Given the description of an element on the screen output the (x, y) to click on. 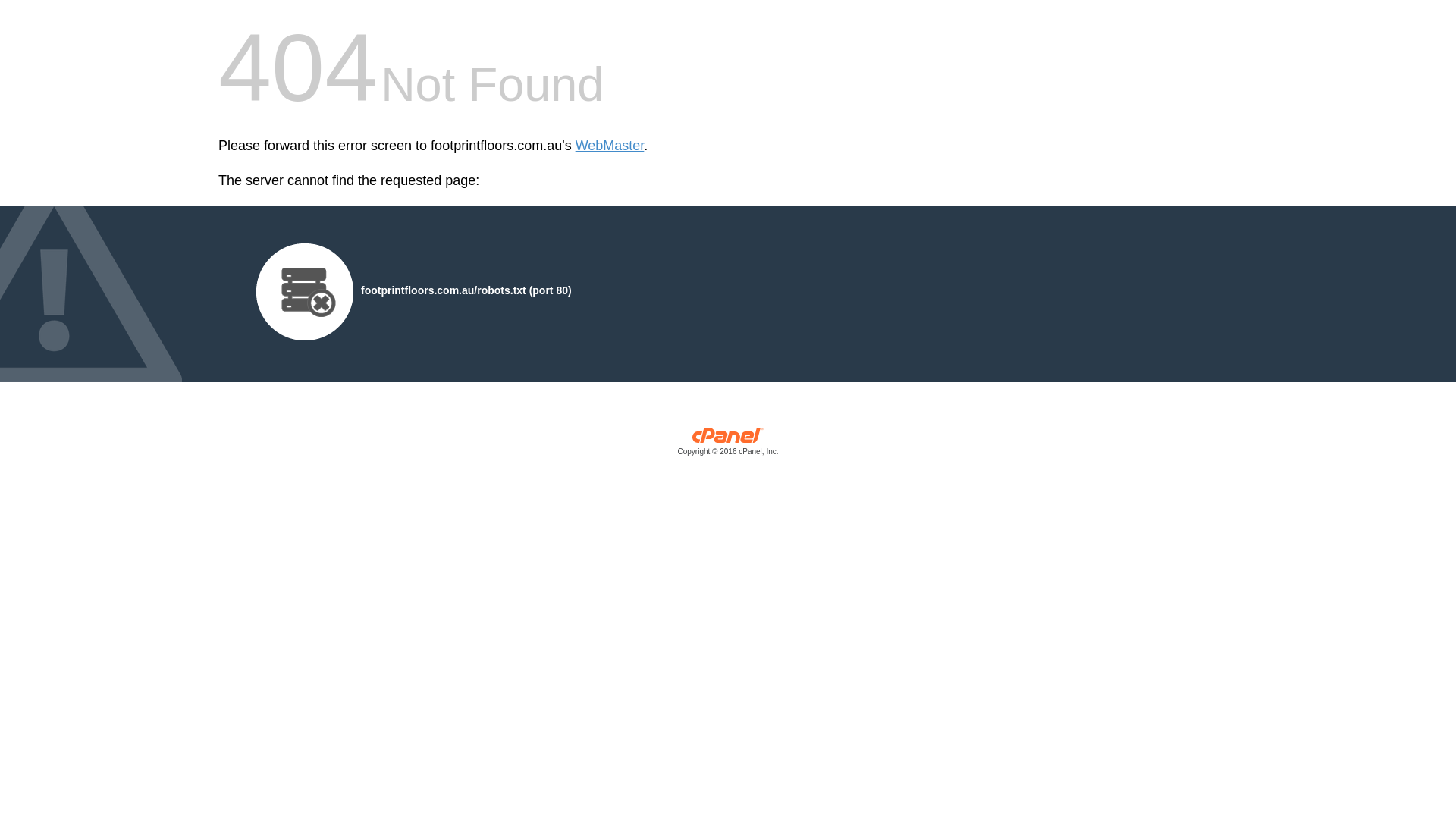
WebMaster Element type: text (609, 145)
